Given the description of an element on the screen output the (x, y) to click on. 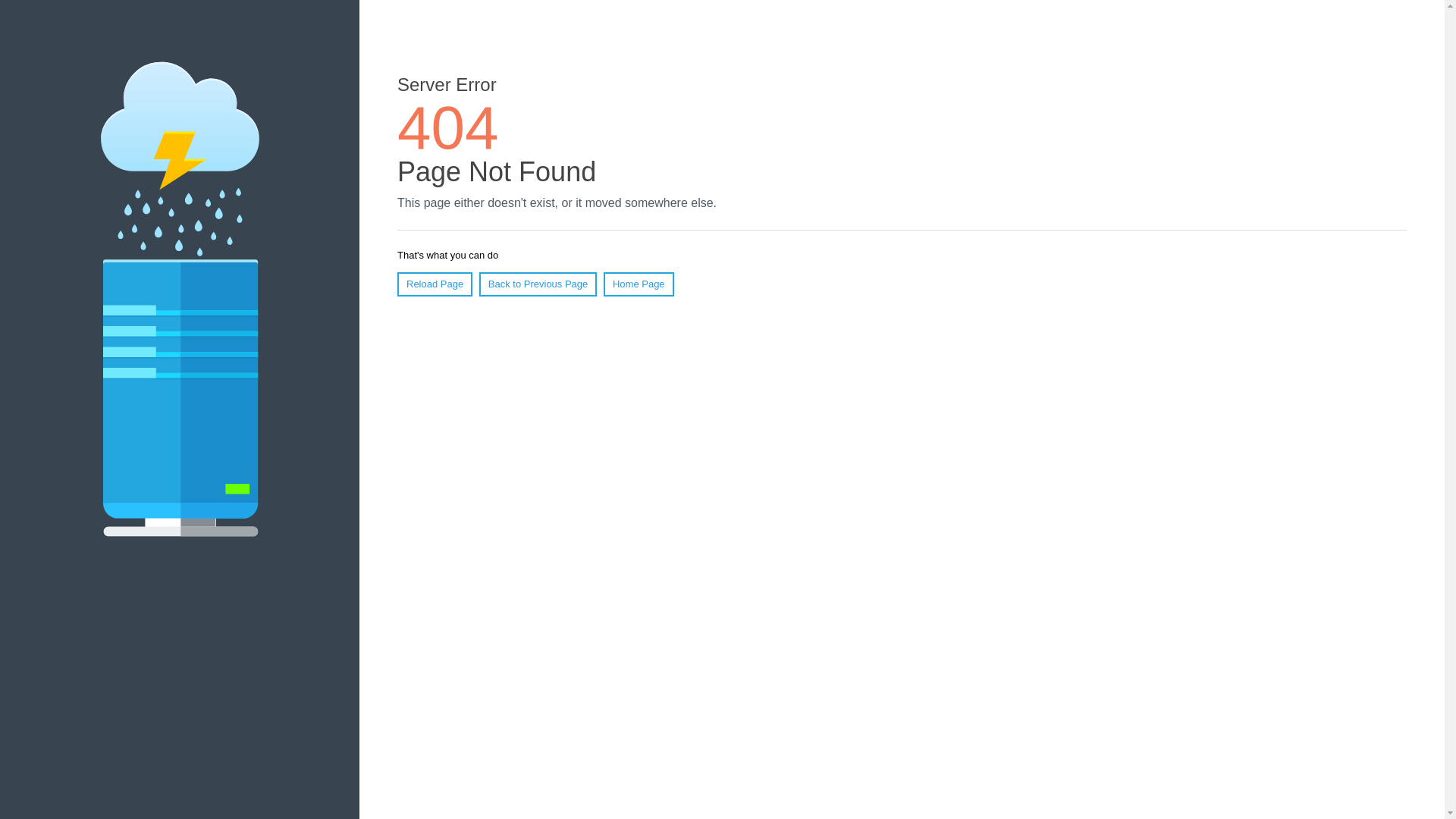
Reload Page Element type: text (434, 284)
Home Page Element type: text (638, 284)
Back to Previous Page Element type: text (538, 284)
